Given the description of an element on the screen output the (x, y) to click on. 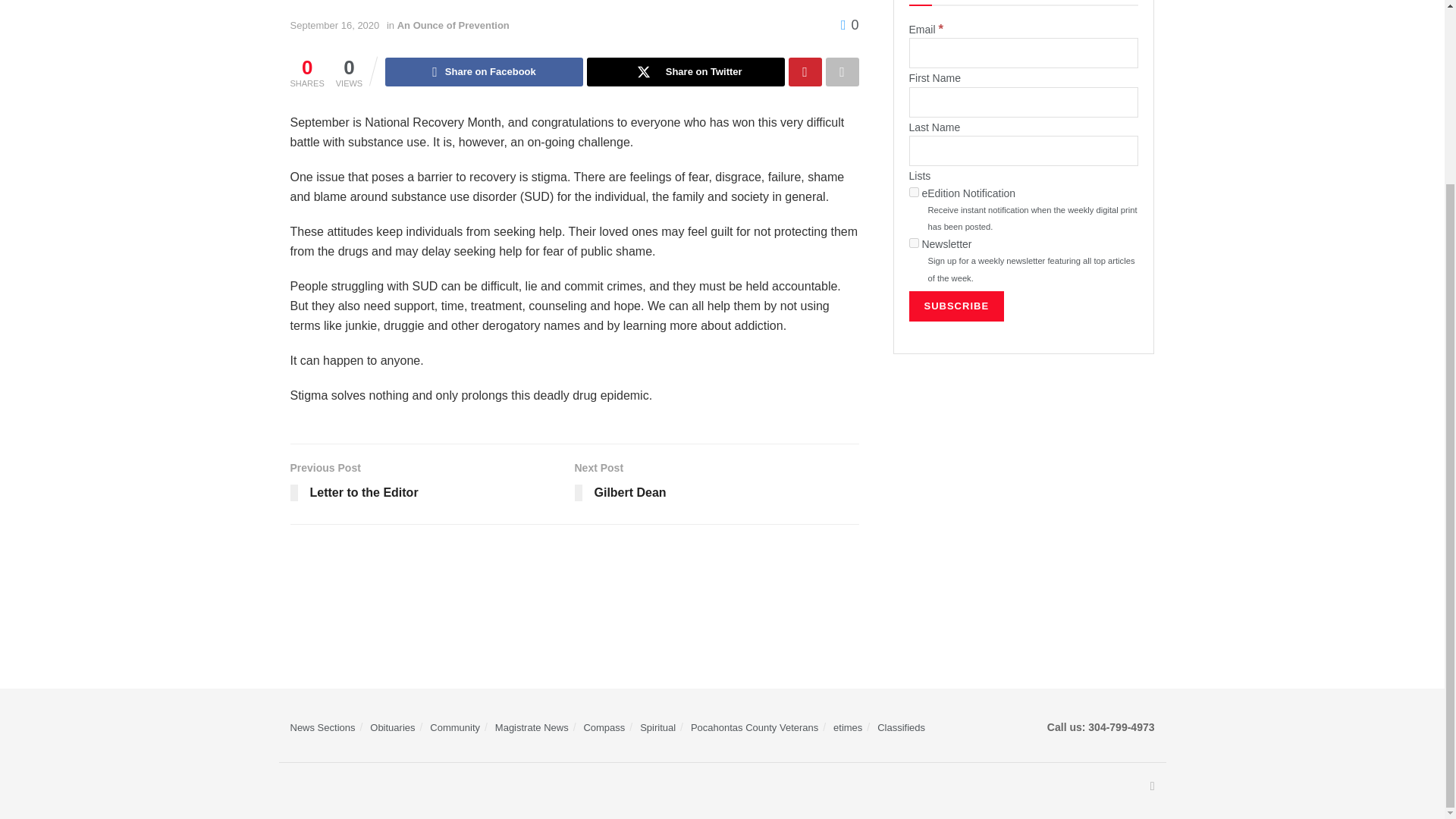
An Ounce of Prevention (453, 25)
Advertisement (1023, 490)
Subscribe (956, 306)
1 (913, 192)
September 16, 2020 (333, 25)
2 (913, 243)
